Given the description of an element on the screen output the (x, y) to click on. 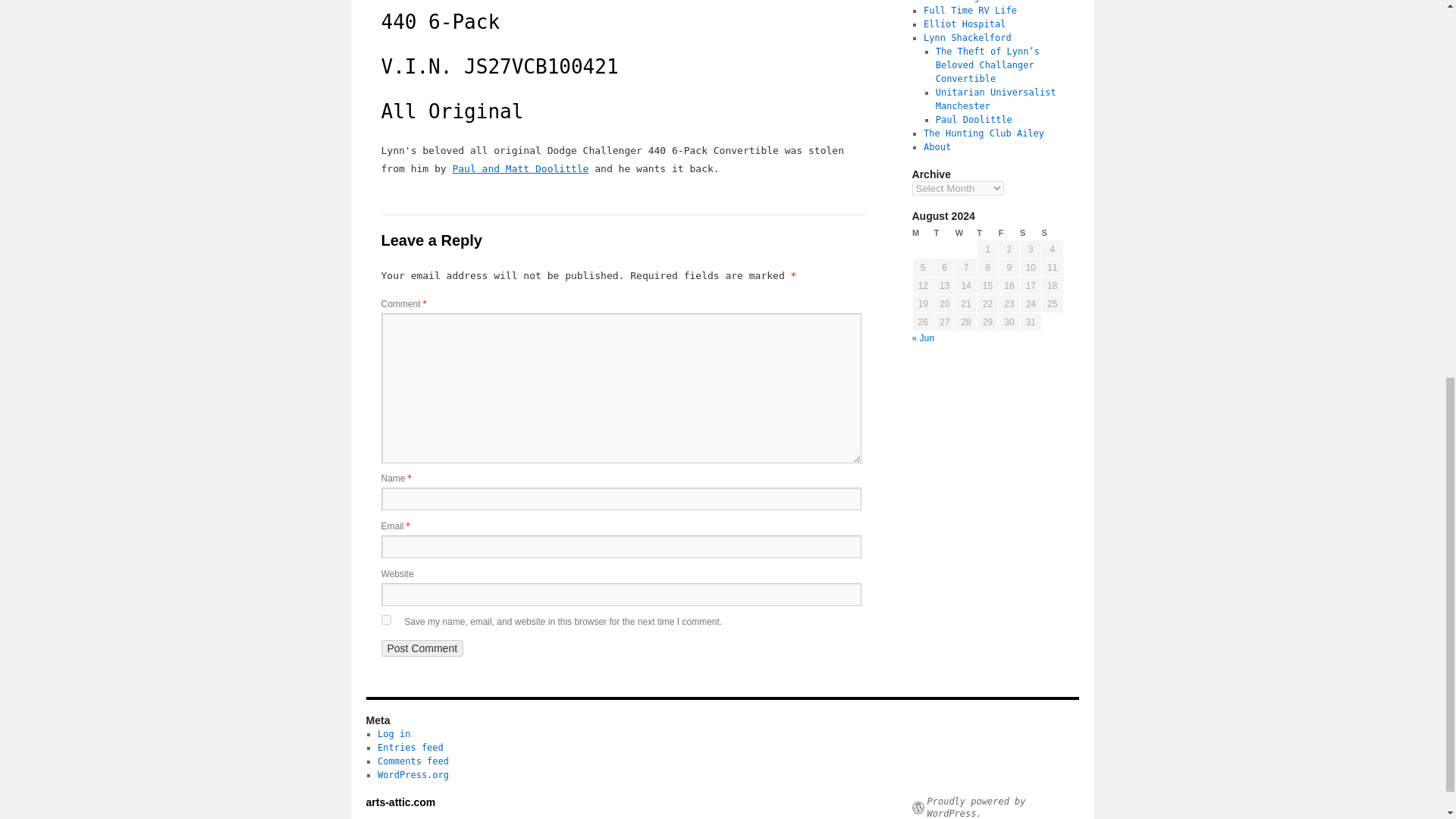
Monday (922, 233)
Paul Doolittle (973, 119)
Post Comment (421, 647)
Wednesday (965, 233)
Saturday (1030, 233)
Elliot Hospital (964, 23)
Tuesday (944, 233)
arts-attic.com (400, 802)
Paul and Matt Doolittle (519, 168)
Sunday (1052, 233)
